Given the description of an element on the screen output the (x, y) to click on. 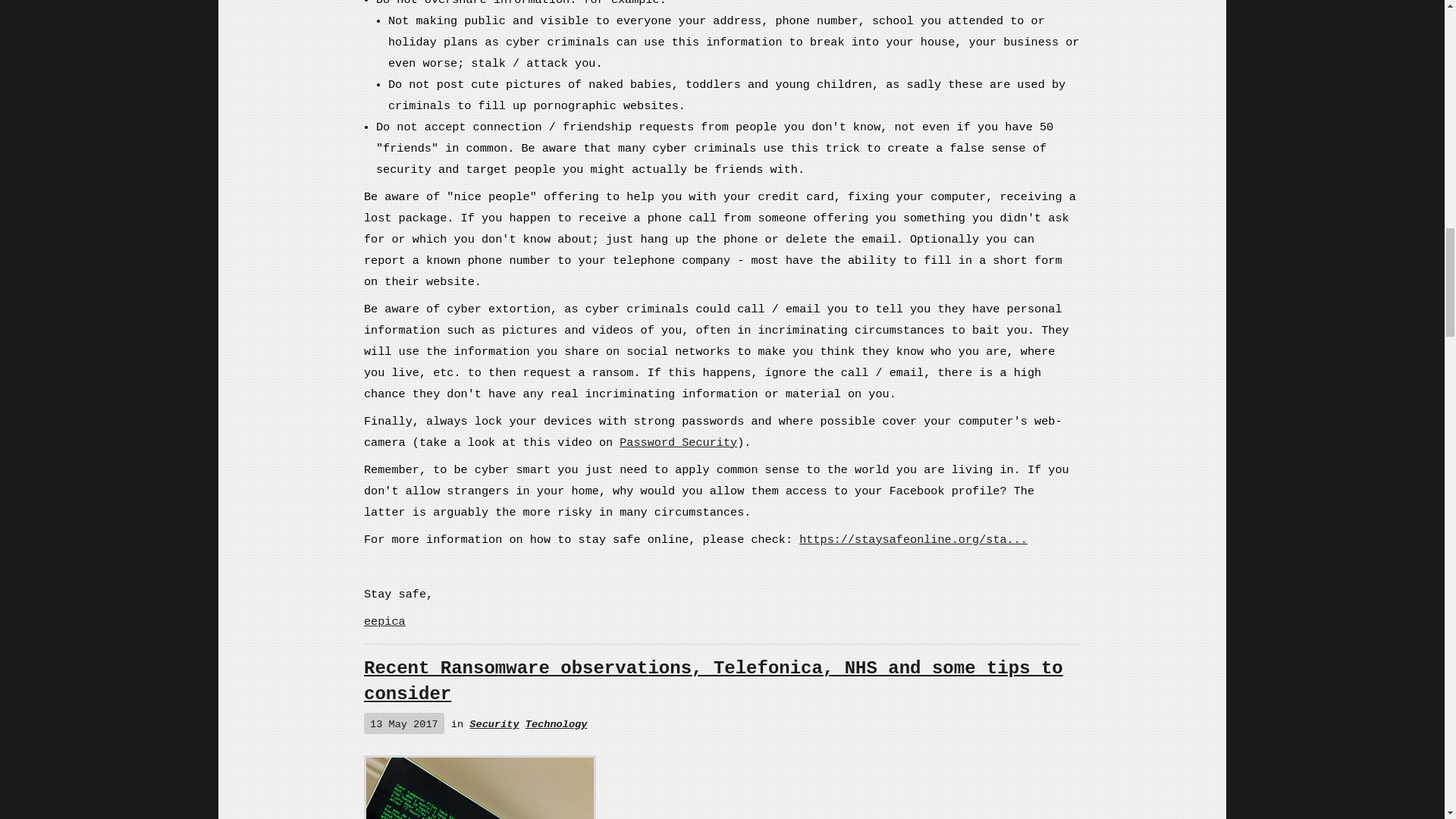
eepica (385, 621)
Security (493, 724)
Technology (556, 724)
Password Security (678, 442)
